Given the description of an element on the screen output the (x, y) to click on. 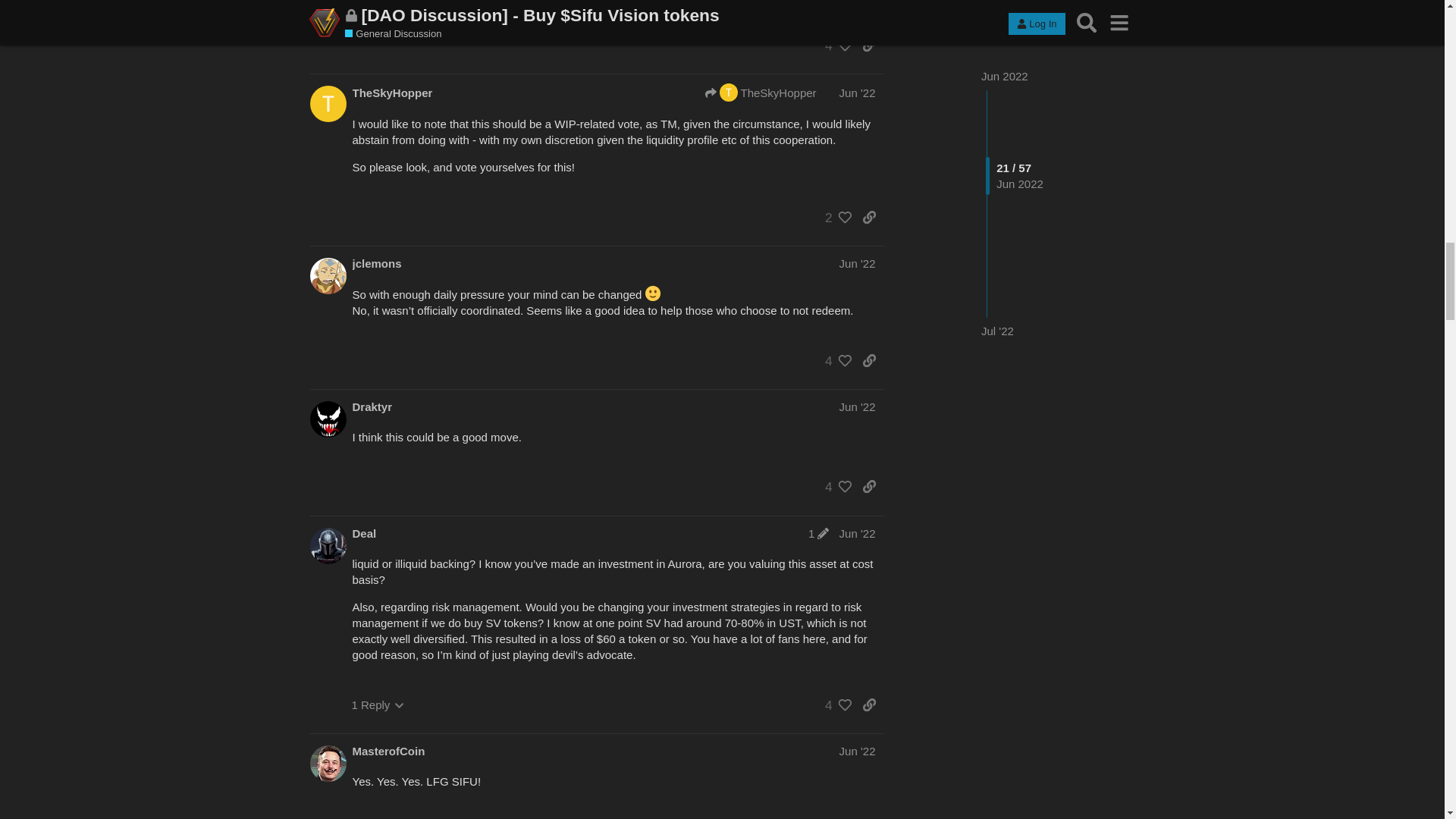
12:18PM - 28 August 2023 (405, 444)
Volta Club Expands (529, 15)
